Given the description of an element on the screen output the (x, y) to click on. 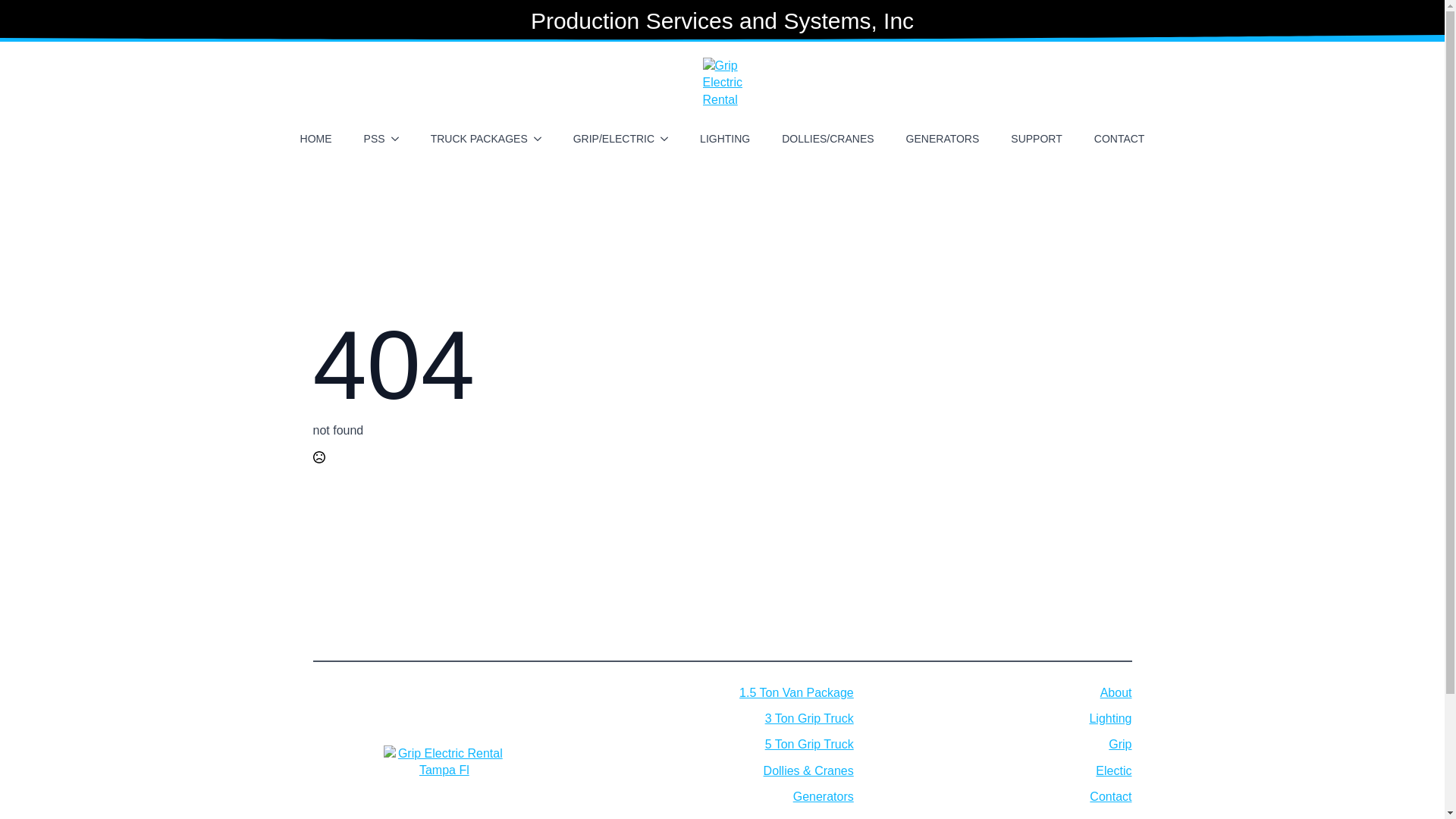
About (1116, 692)
SUPPORT (1036, 138)
3 Ton Grip Truck (809, 718)
Generators (823, 796)
HOME (315, 138)
PSS (368, 138)
Lighting (1110, 718)
LIGHTING (724, 138)
1.5 Ton Van Package (796, 692)
CONTACT (1119, 138)
